Given the description of an element on the screen output the (x, y) to click on. 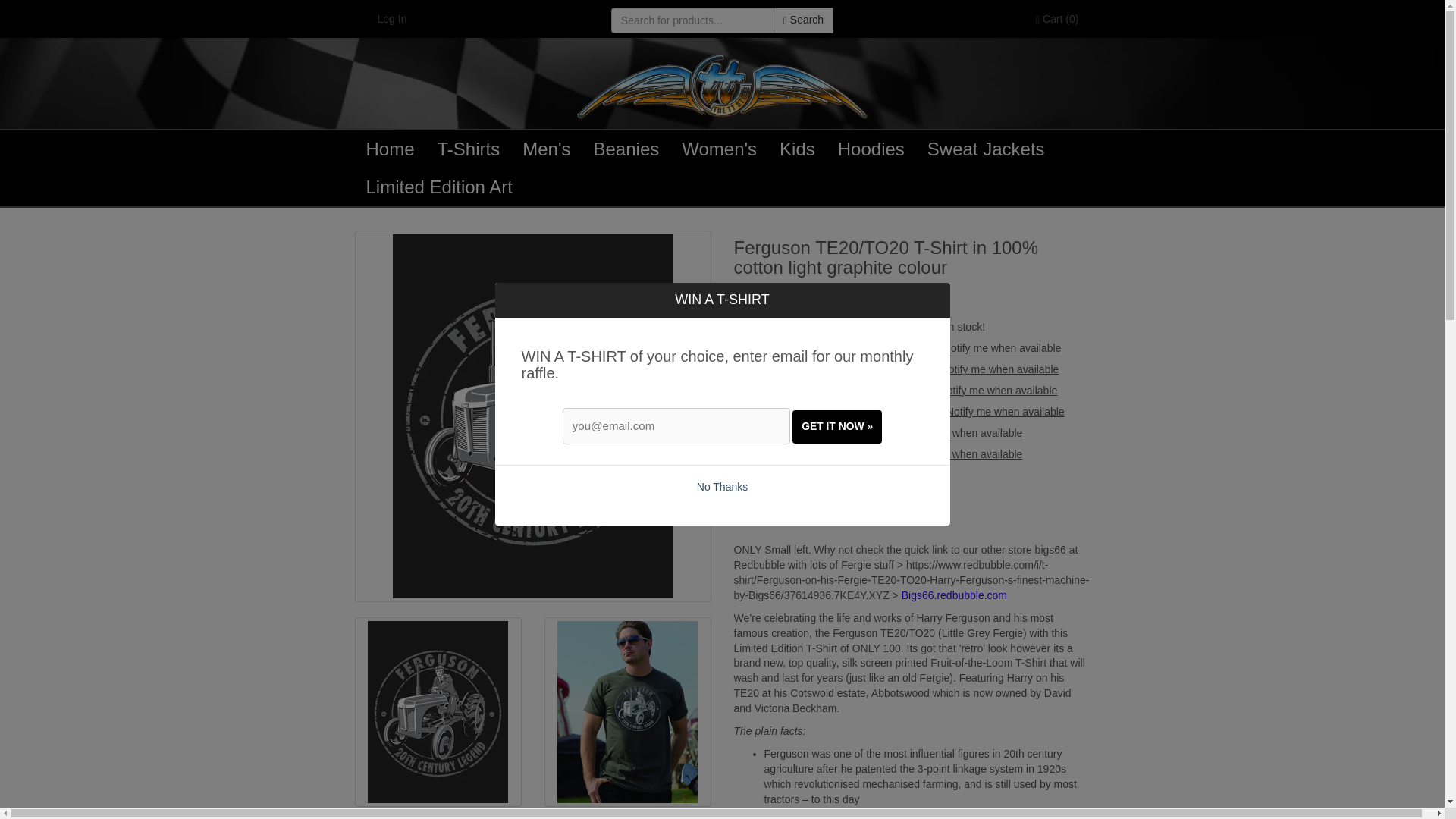
Fergie (911, 579)
26374765891 (738, 431)
Home (390, 149)
The TT Store (721, 79)
T-Shirts (469, 149)
25960392259 (738, 410)
26374868355 (738, 452)
Limited Edition Art (439, 187)
Size Guide (799, 303)
Men's (545, 149)
Hoodies (871, 149)
Sold Out! Notify me when available (978, 347)
Sold Out! Notify me when available (939, 453)
Sold Out! Notify me when available (974, 390)
25960392131 (738, 368)
